Given the description of an element on the screen output the (x, y) to click on. 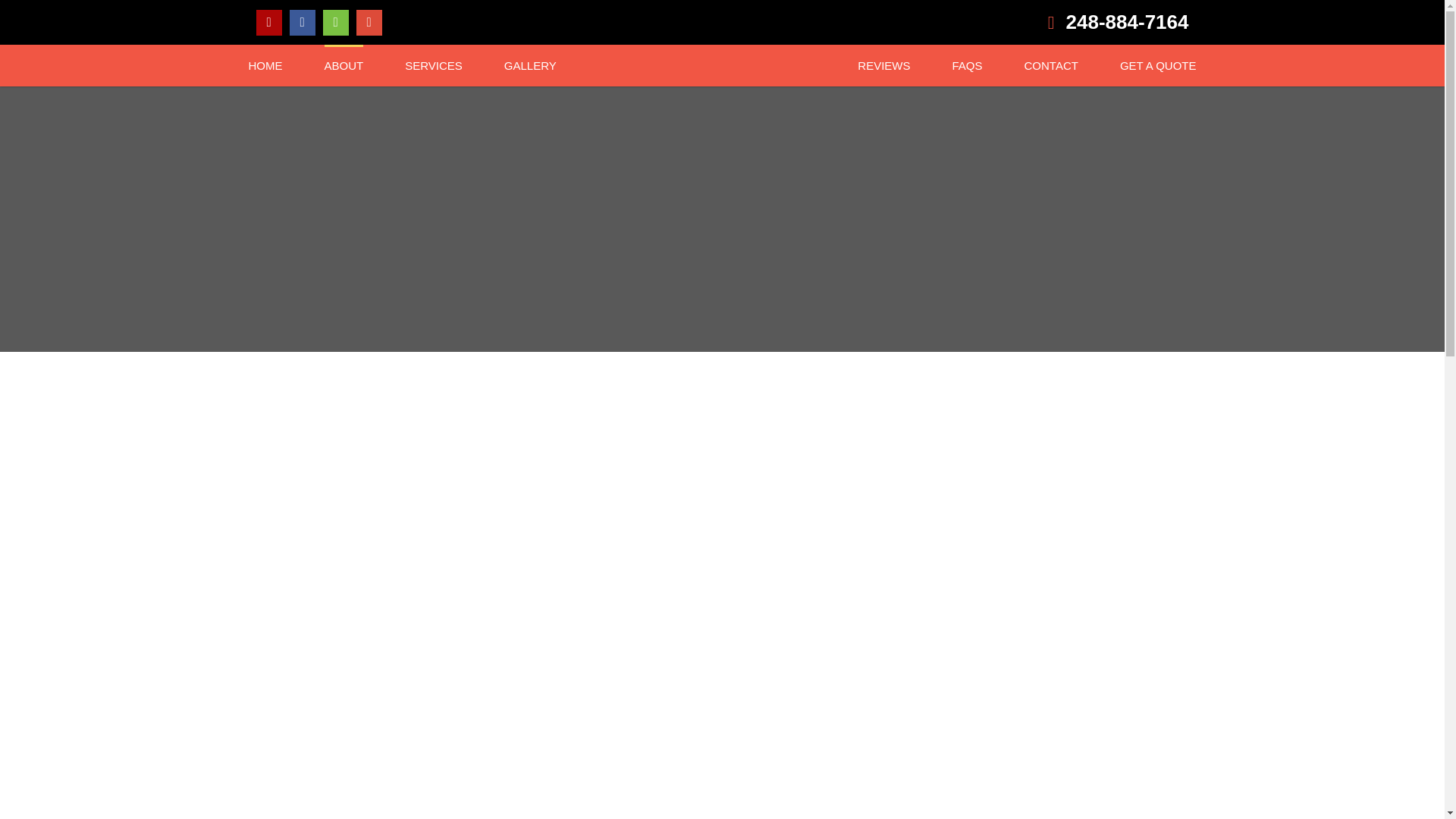
SERVICES (433, 65)
ABOUT (344, 65)
GET A QUOTE (1157, 65)
REVIEWS (883, 65)
248-884-7164 (958, 21)
GALLERY (529, 65)
CONTACT (1051, 65)
